Given the description of an element on the screen output the (x, y) to click on. 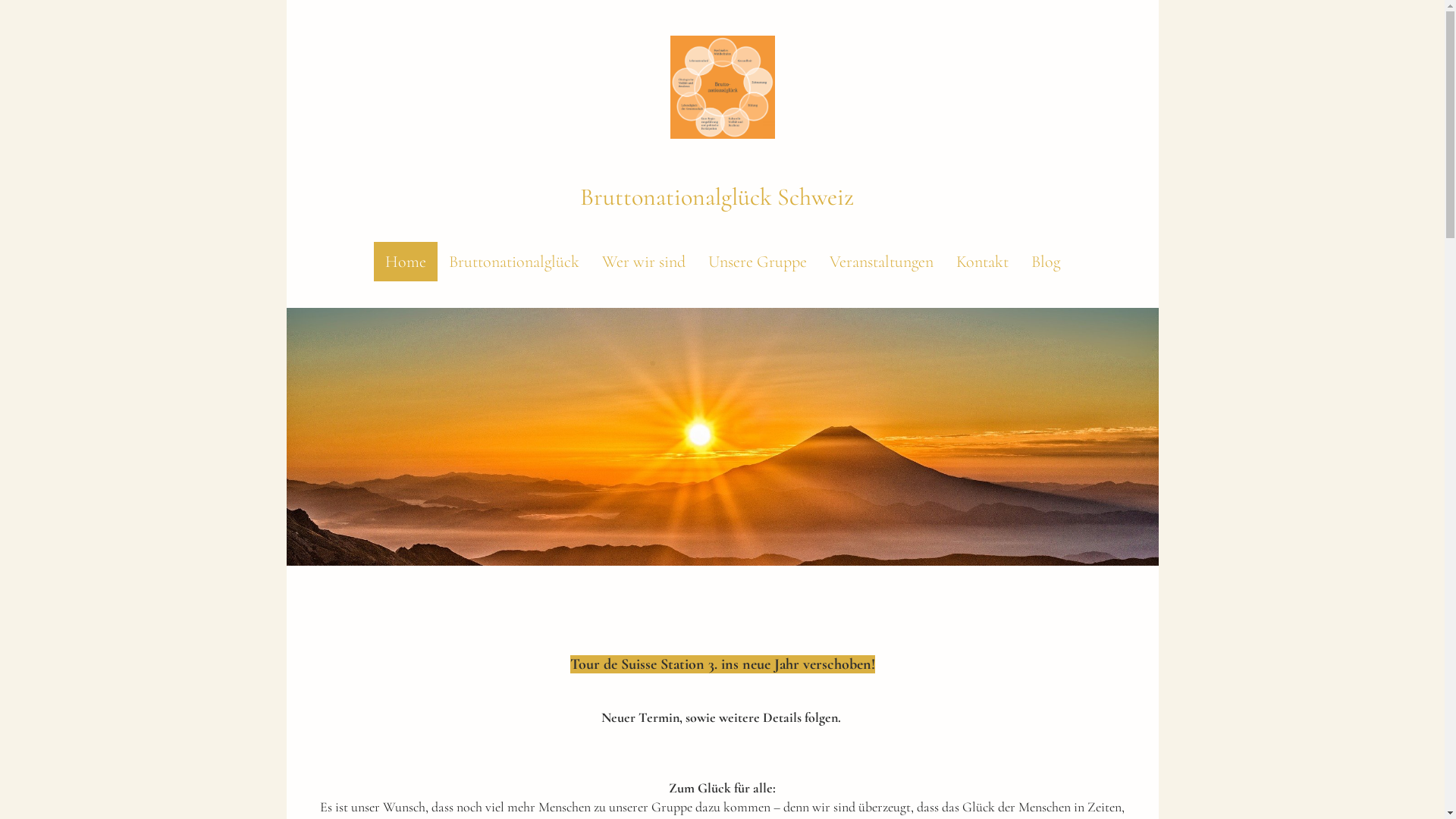
Kontakt Element type: text (981, 261)
Wer wir sind Element type: text (642, 261)
Blog Element type: text (1044, 261)
Home Element type: text (404, 261)
Unsere Gruppe Element type: text (756, 261)
Veranstaltungen Element type: text (880, 261)
